Given the description of an element on the screen output the (x, y) to click on. 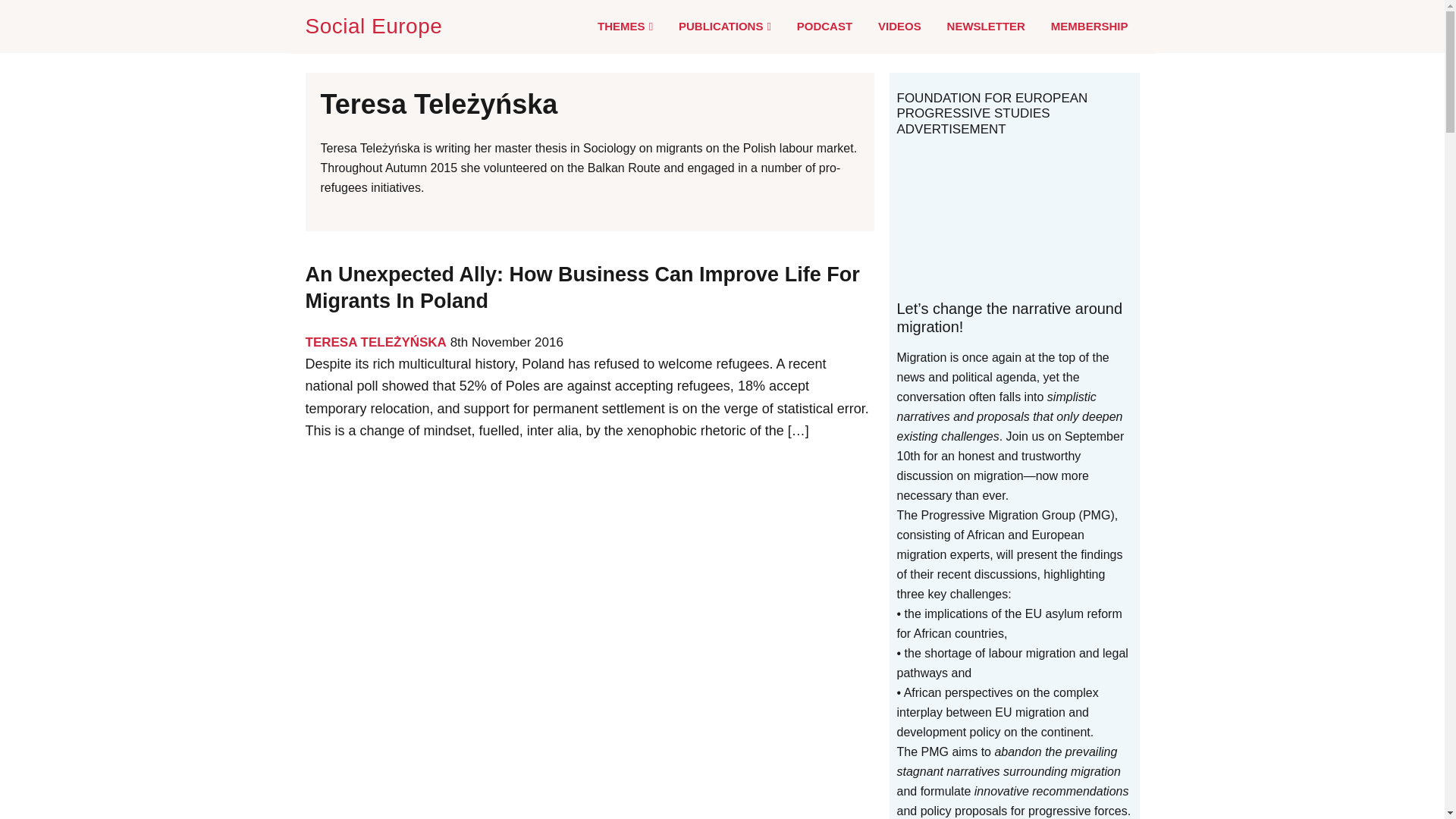
THEMES (624, 26)
VIDEOS (899, 25)
PUBLICATIONS (724, 26)
PODCAST (824, 25)
MEMBERSHIP (1089, 25)
NEWSLETTER (986, 25)
Social Europe (376, 26)
